Given the description of an element on the screen output the (x, y) to click on. 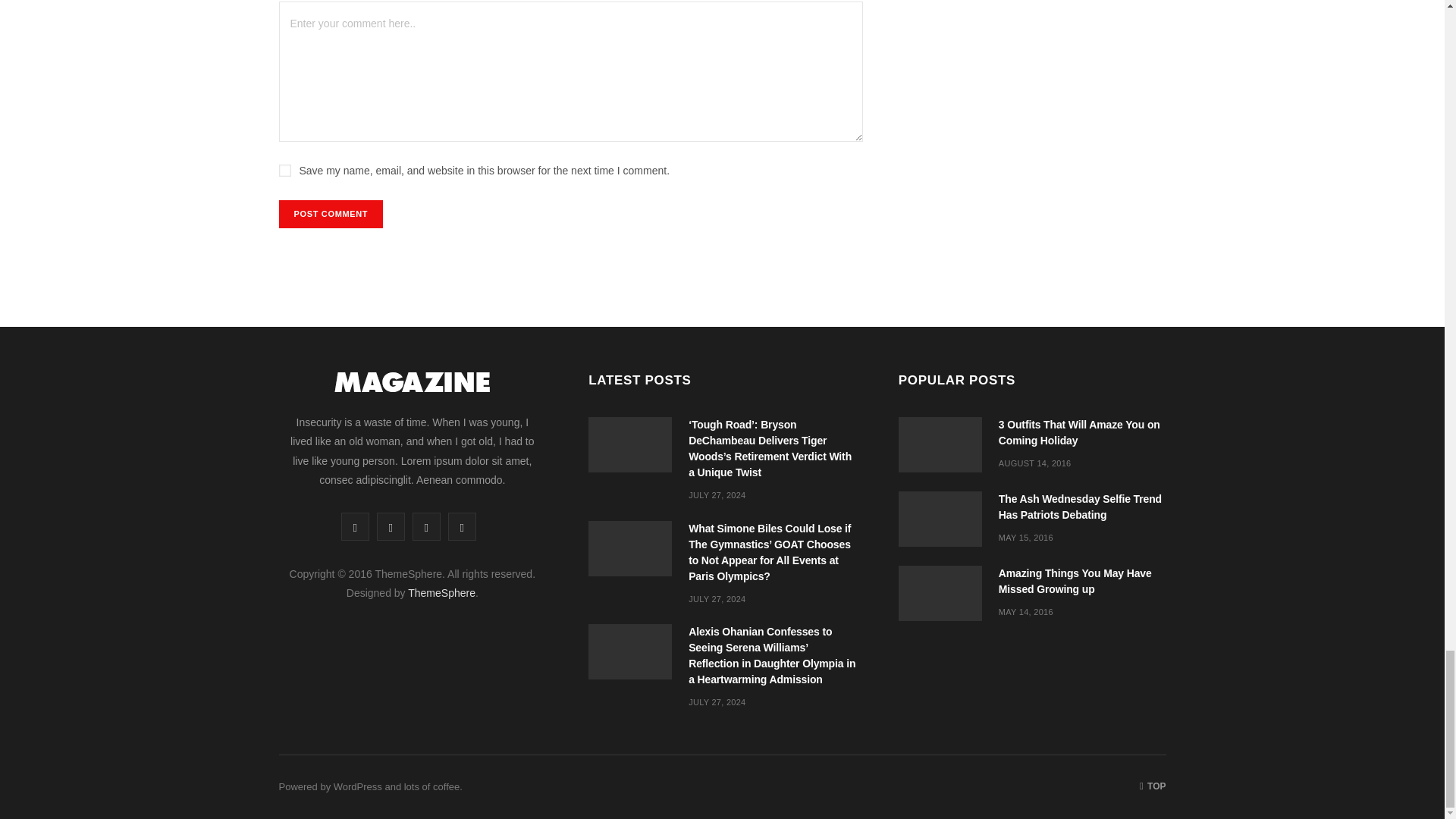
yes (285, 170)
Post Comment (331, 213)
